Given the description of an element on the screen output the (x, y) to click on. 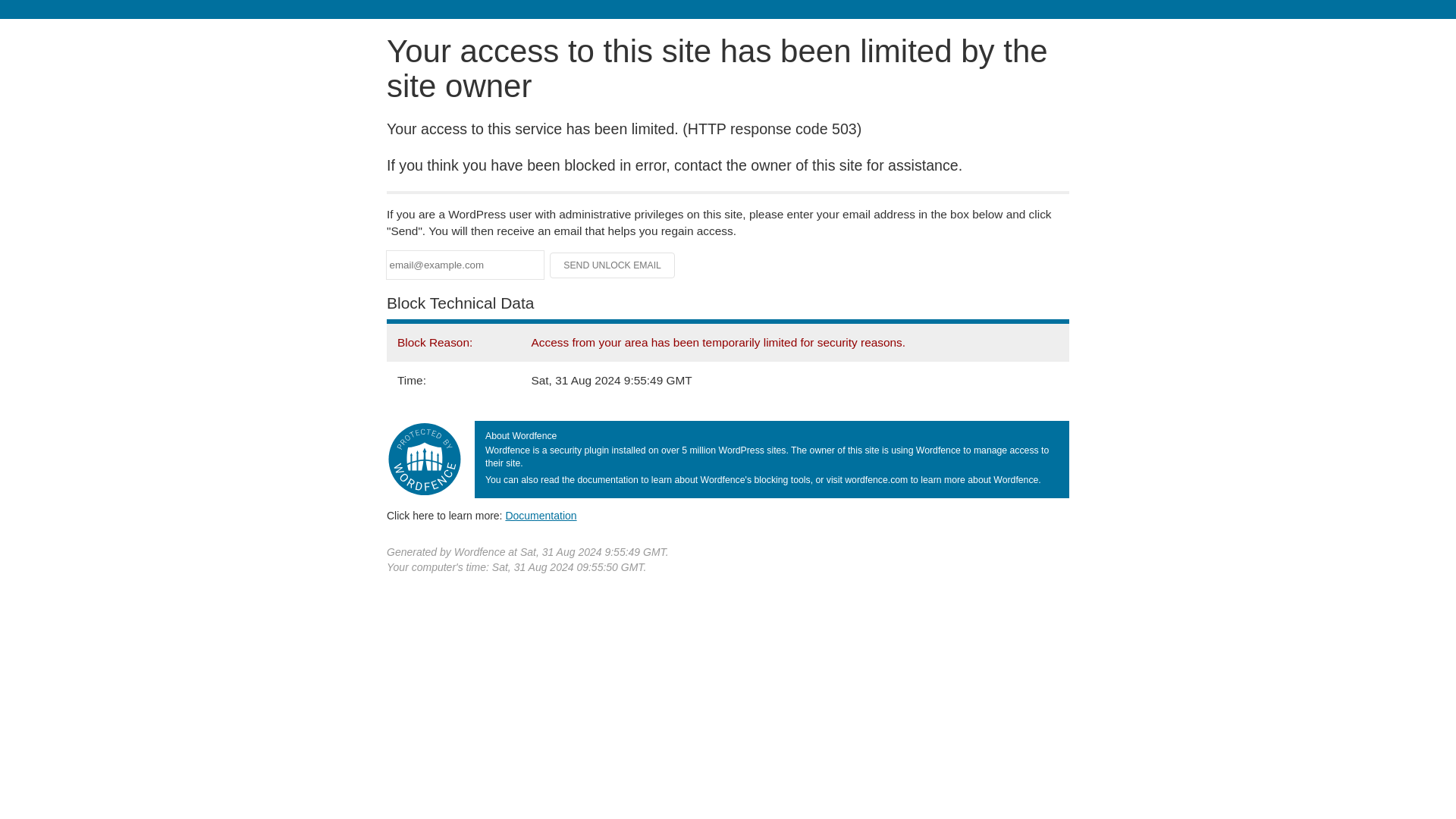
Documentation (540, 515)
Send Unlock Email (612, 265)
Send Unlock Email (612, 265)
